Given the description of an element on the screen output the (x, y) to click on. 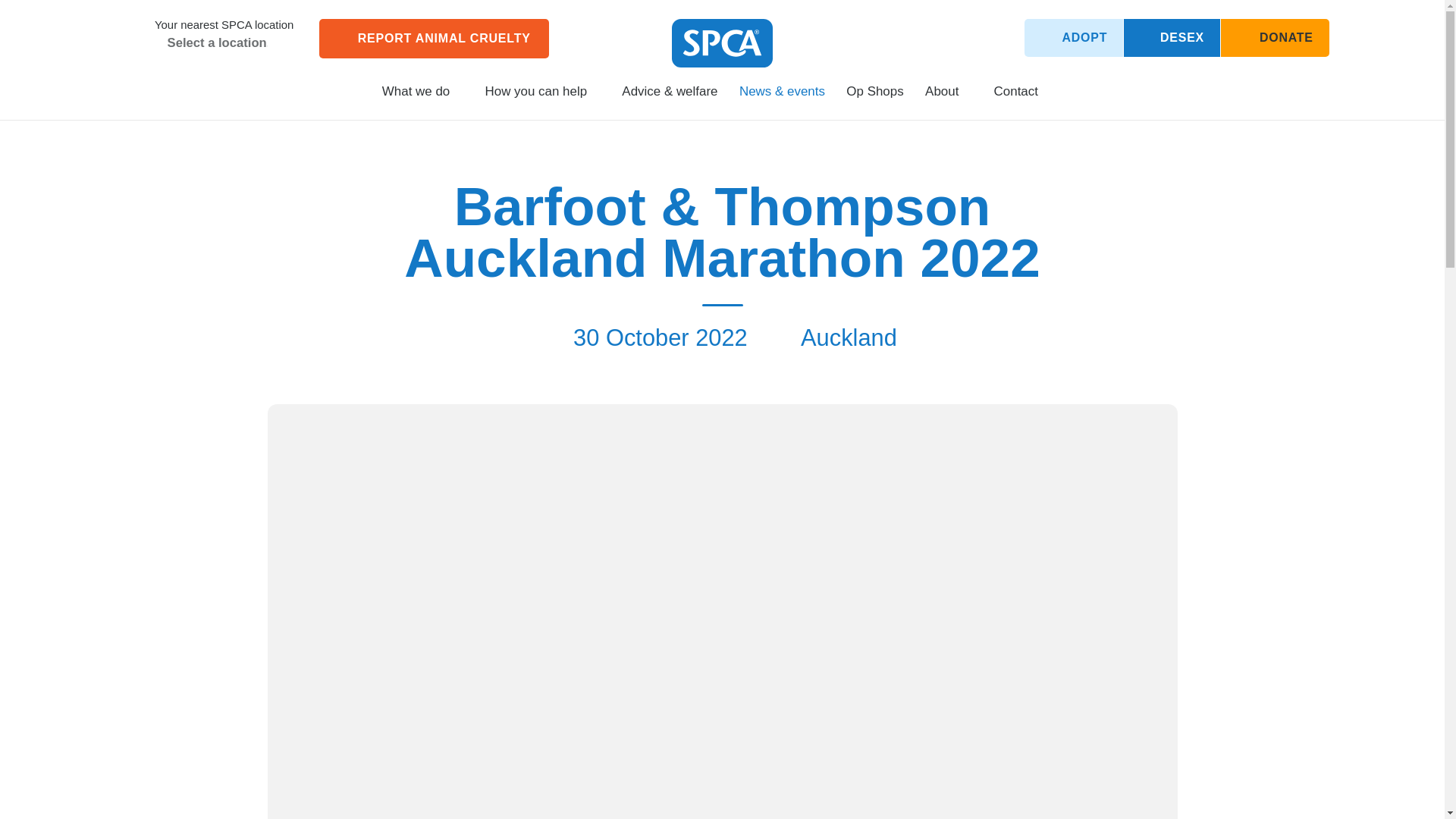
REPORT ANIMAL CRUELTY (433, 38)
View Auckland's Centre page (130, 33)
Remove Centre preference (157, 43)
About (948, 97)
DONATE (1275, 37)
ADOPT (1073, 37)
DESEX (1172, 37)
Remove Centre preference (157, 43)
Search our site (1064, 91)
What we do (421, 97)
